Given the description of an element on the screen output the (x, y) to click on. 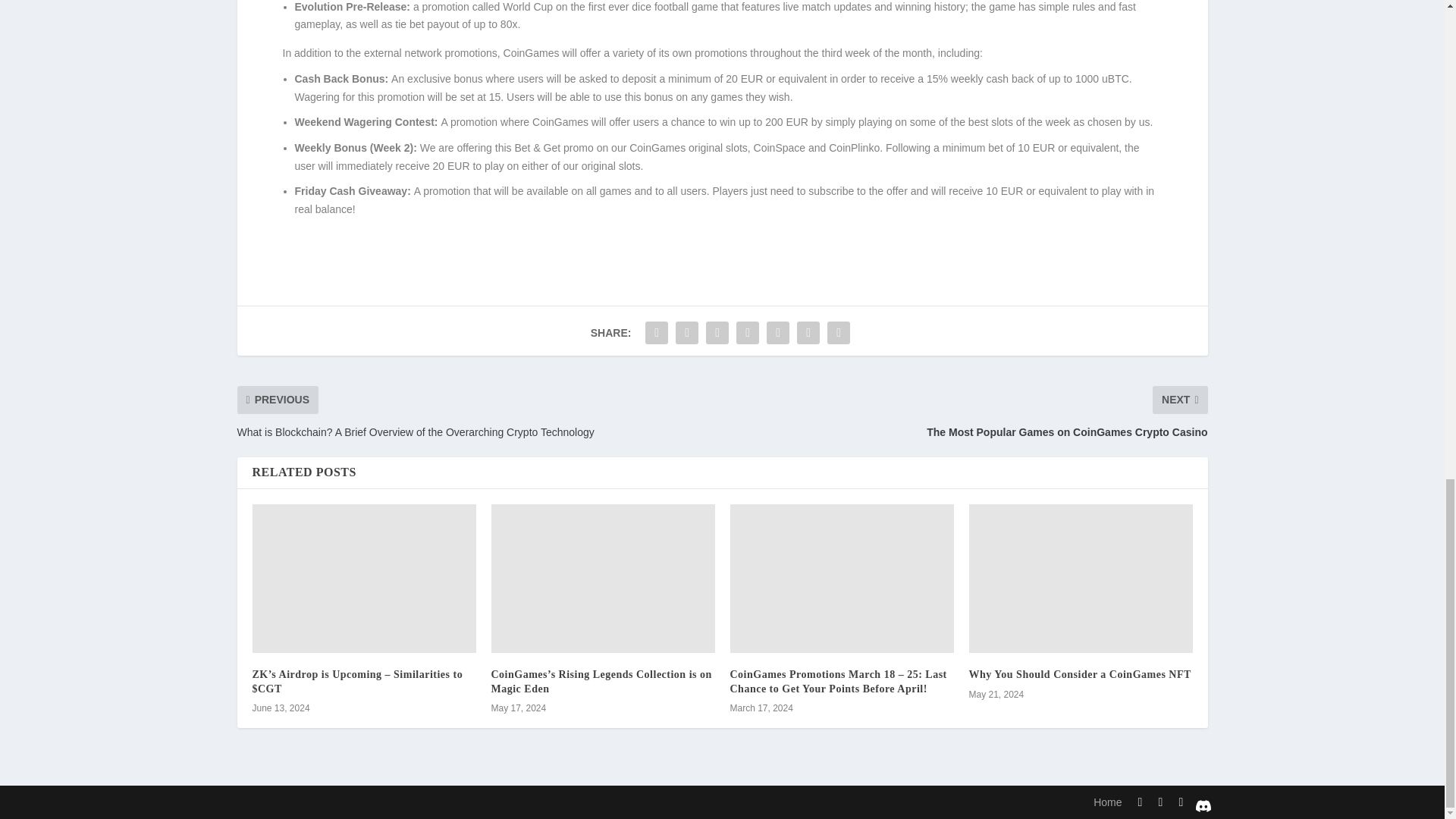
Home (1107, 802)
Why You Should Consider a CoinGames NFT (1080, 578)
Why You Should Consider a CoinGames NFT (1080, 674)
